Given the description of an element on the screen output the (x, y) to click on. 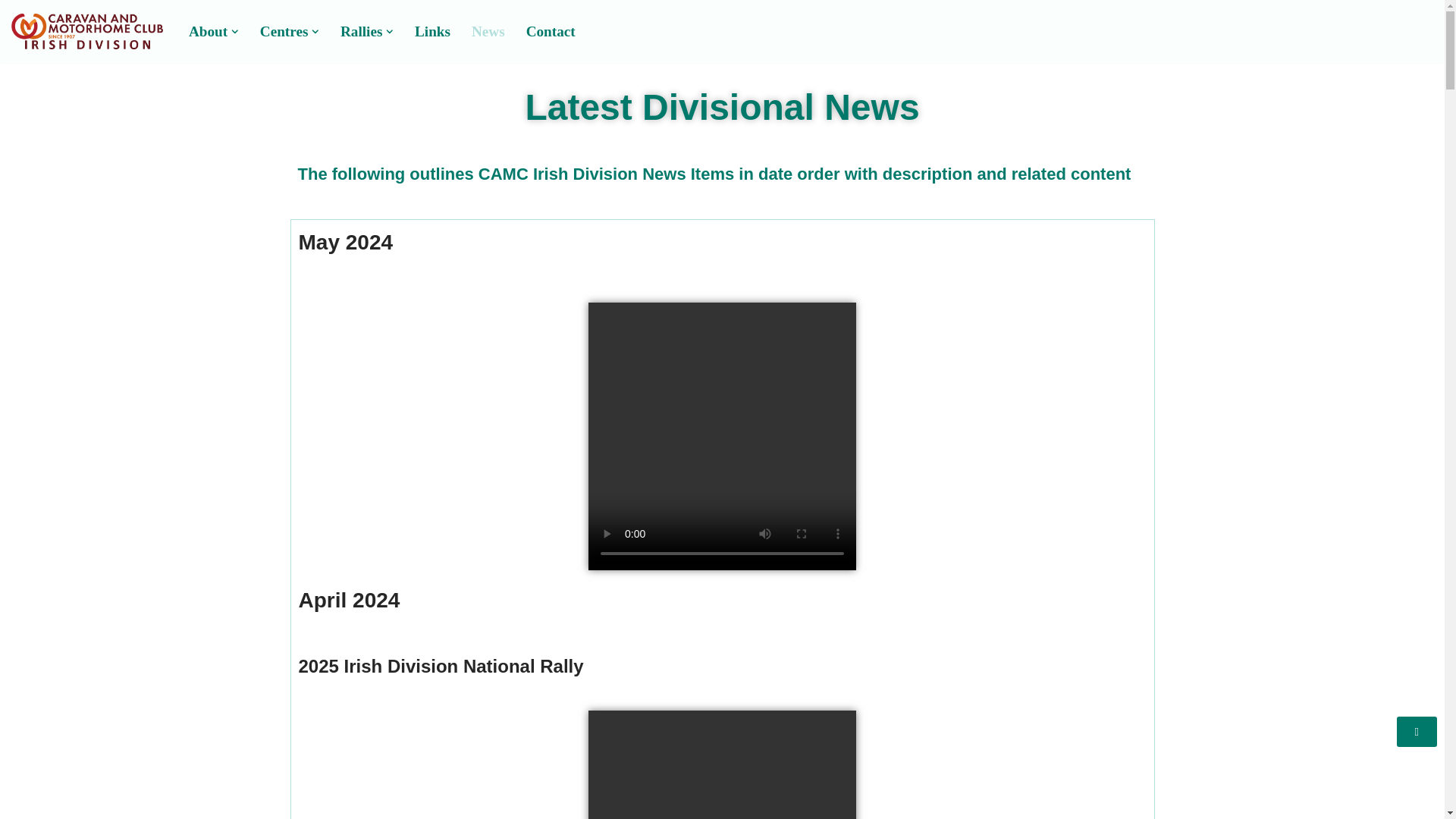
About (208, 31)
Contact (550, 31)
Rallies (360, 31)
Skip to content (11, 31)
Links (431, 31)
News (488, 31)
Centres (284, 31)
